Given the description of an element on the screen output the (x, y) to click on. 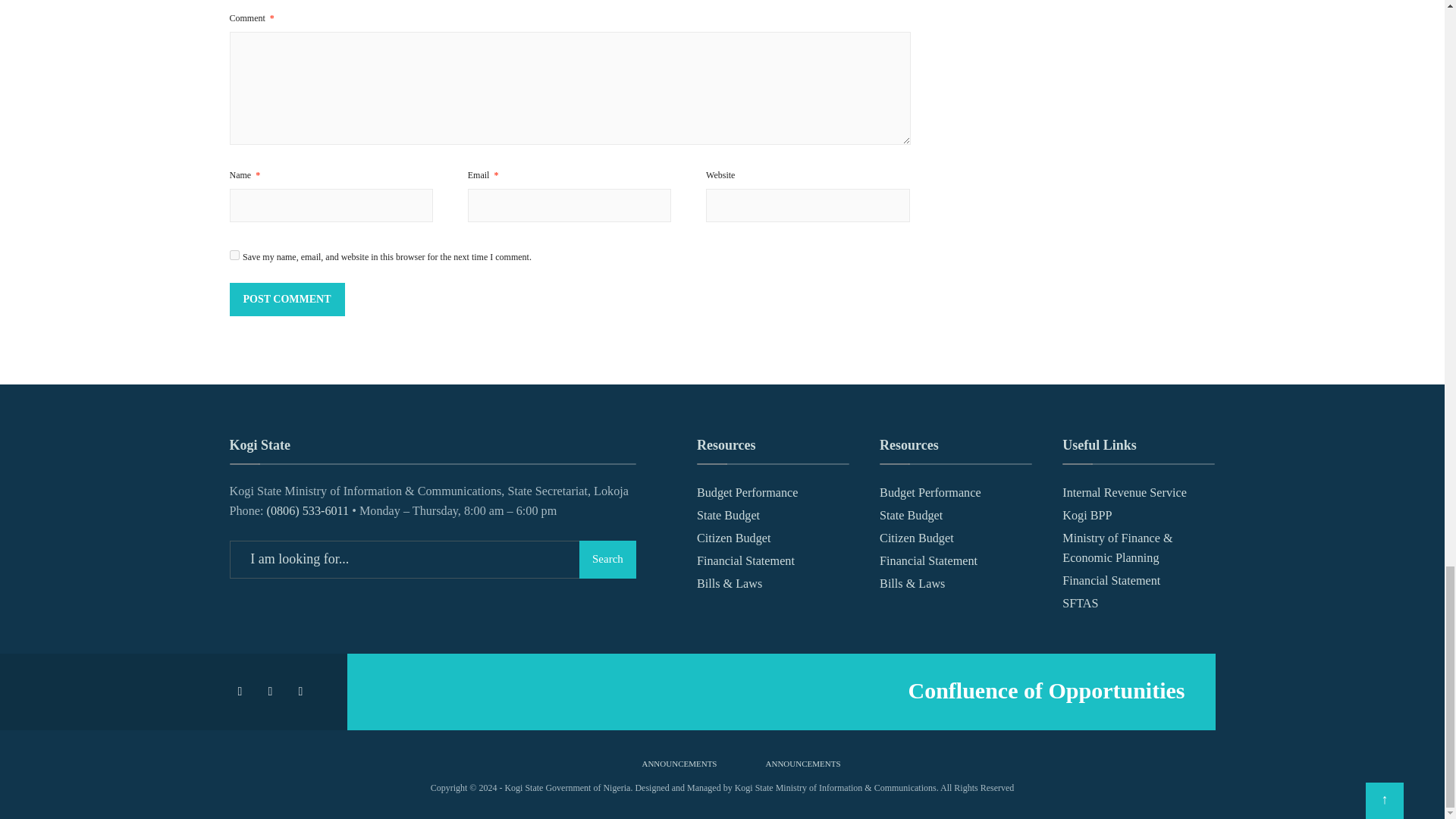
Facebook (242, 691)
I am looking for... (431, 559)
YouTube (302, 691)
yes (233, 255)
Post Comment (285, 299)
Twitter (272, 691)
